Given the description of an element on the screen output the (x, y) to click on. 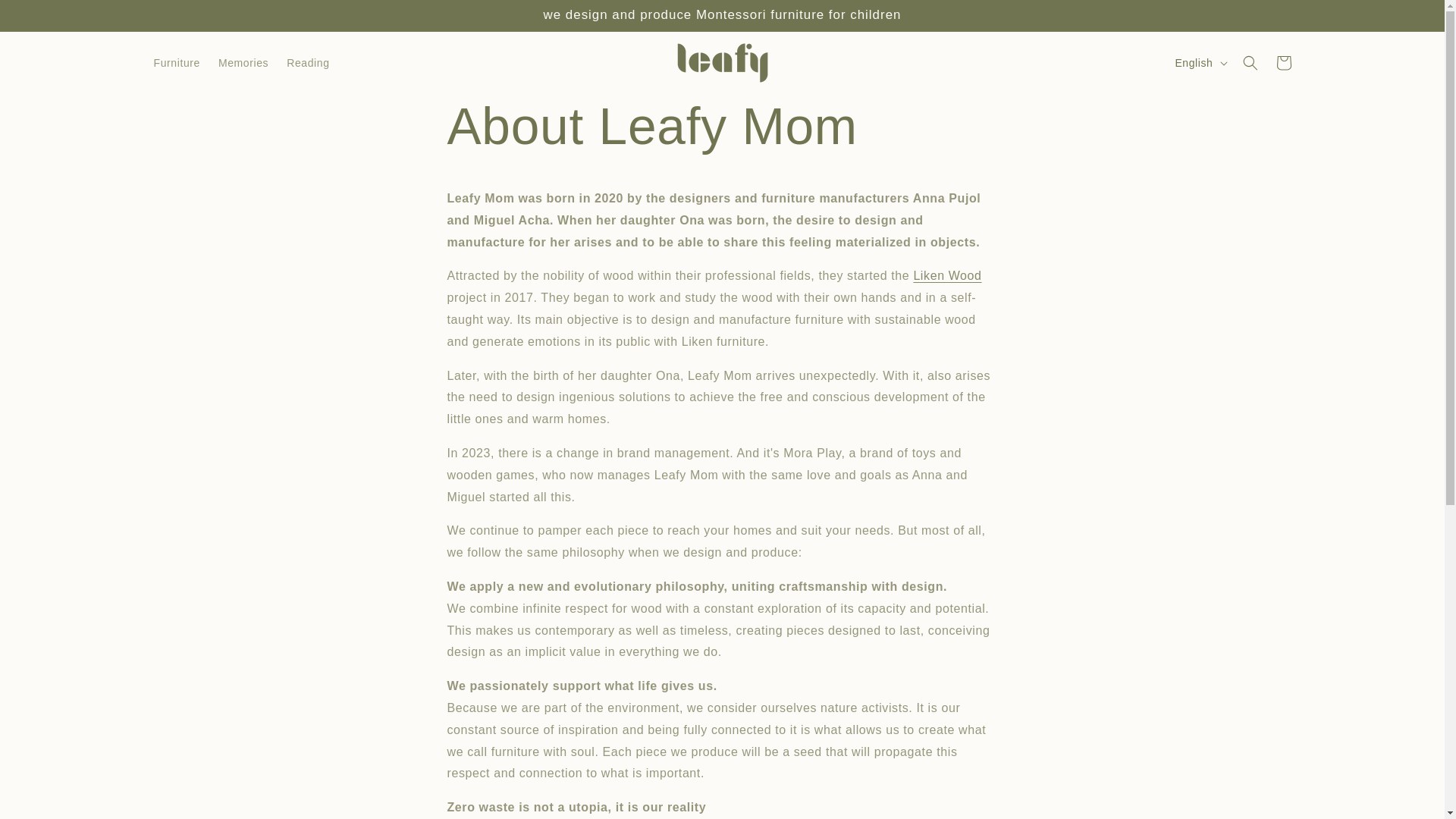
Cart (1283, 62)
Reading (307, 62)
Liken Wood (946, 275)
Skip to content (45, 17)
Memories (243, 62)
English (1199, 62)
Furniture (176, 62)
